Given the description of an element on the screen output the (x, y) to click on. 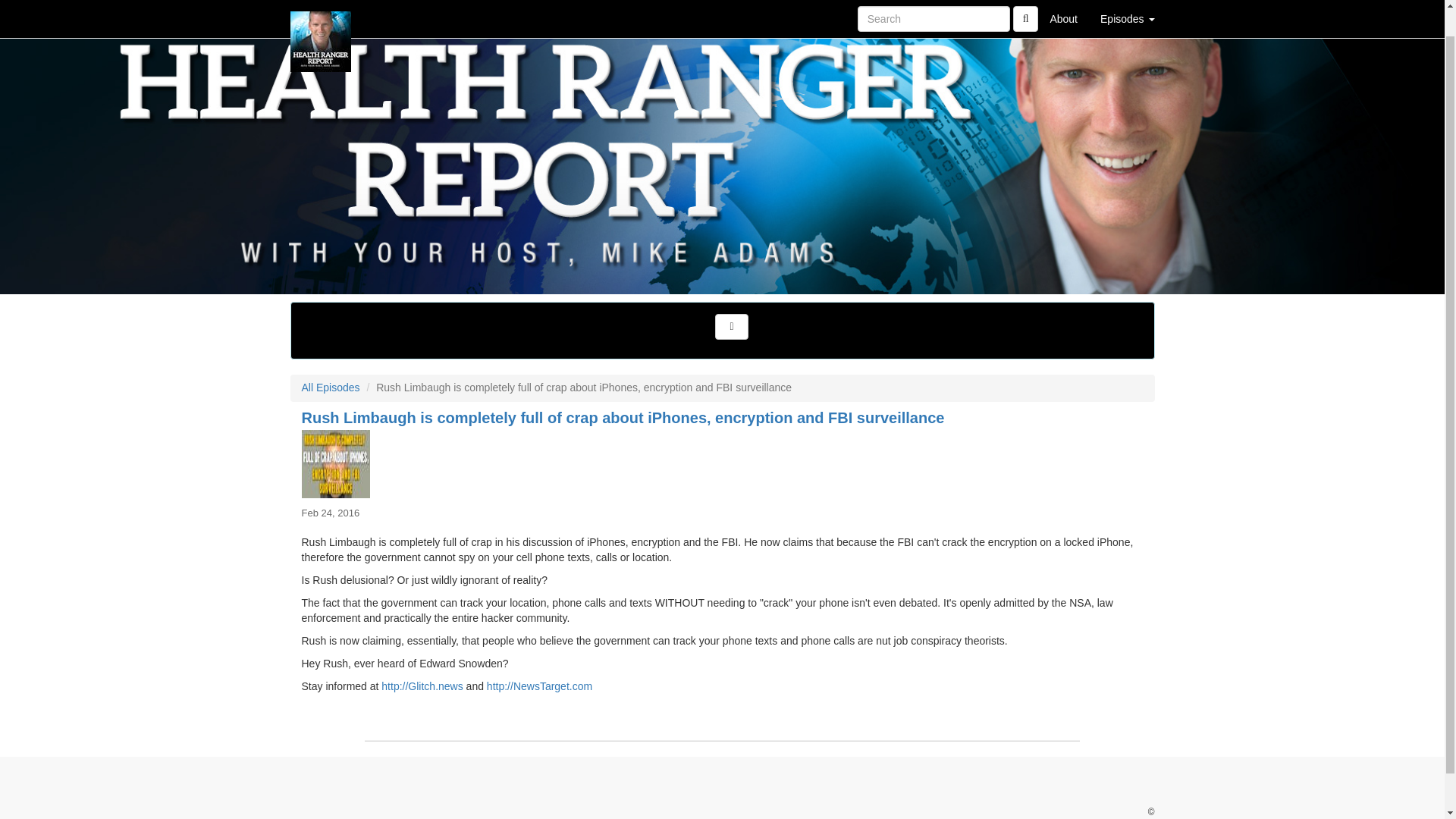
About (1063, 4)
Episodes (1127, 4)
Home Page (320, 4)
